Given the description of an element on the screen output the (x, y) to click on. 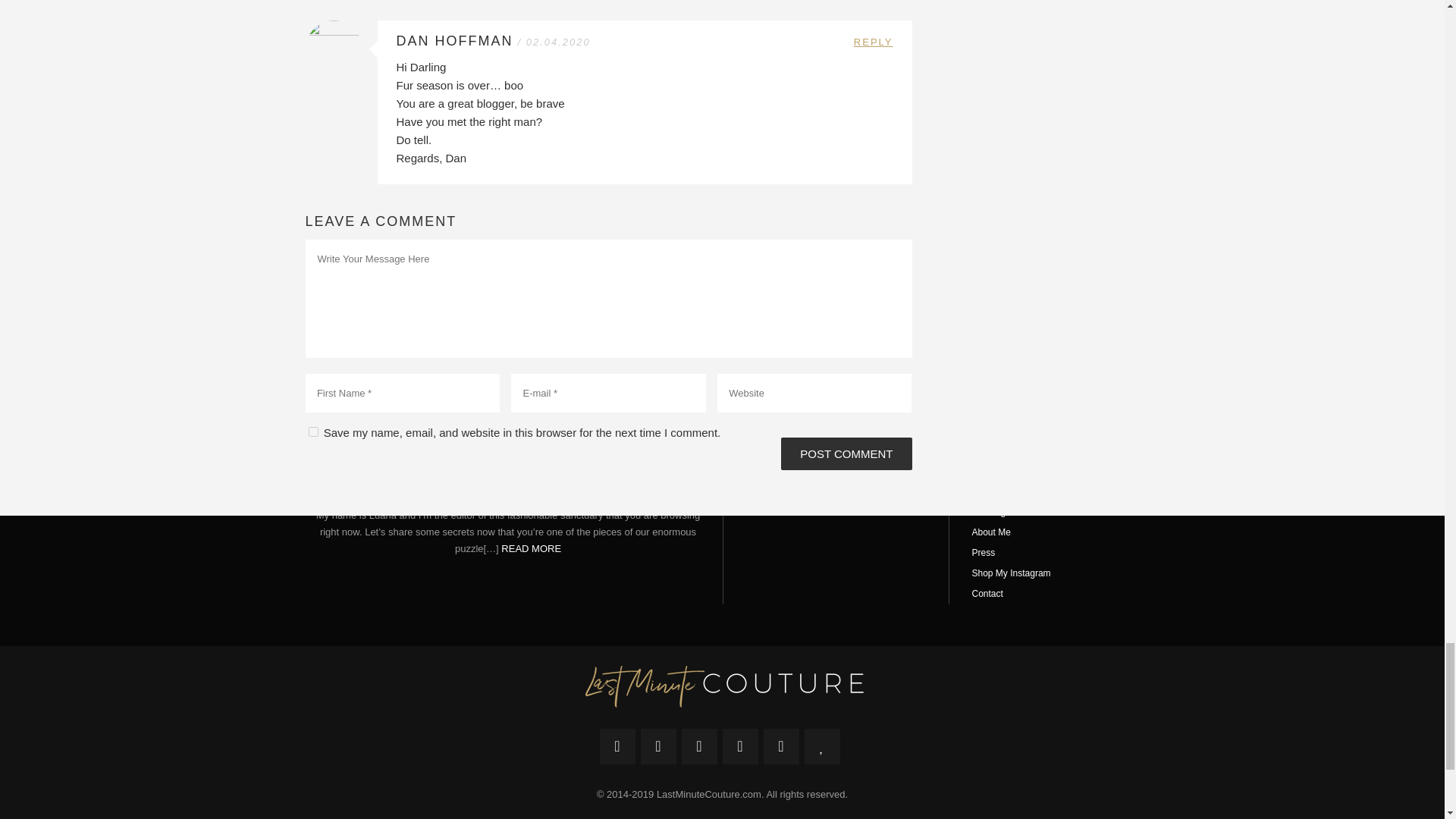
POST COMMENT (845, 453)
yes (312, 431)
